Given the description of an element on the screen output the (x, y) to click on. 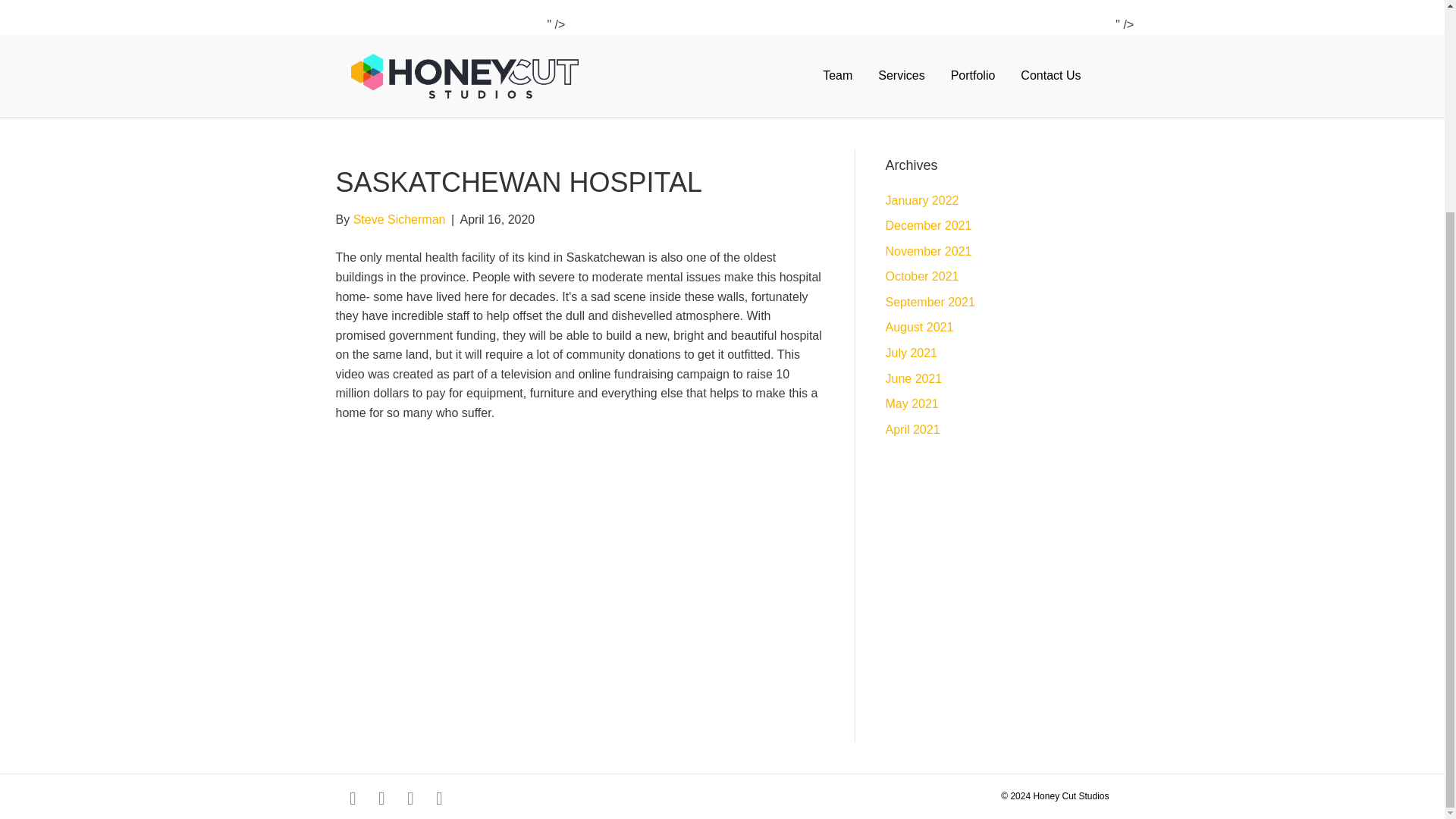
October 2021 (922, 276)
January 2022 (922, 200)
Email (438, 798)
December 2021 (928, 225)
Linkedin (381, 798)
Vimeo (410, 798)
Team (836, 75)
Contact Us (1050, 75)
June 2021 (913, 378)
Portfolio (973, 75)
